Given the description of an element on the screen output the (x, y) to click on. 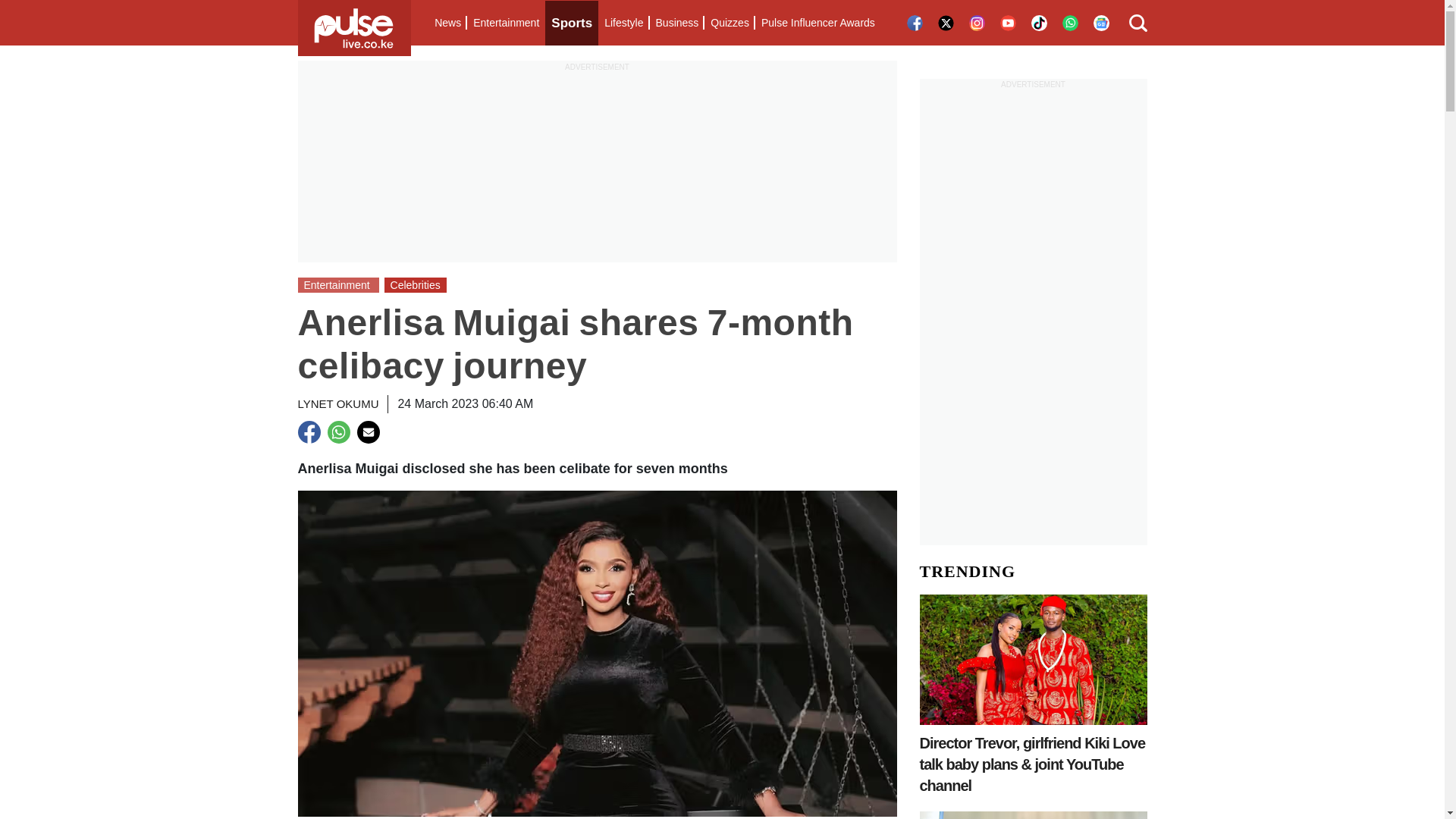
Lifestyle (623, 22)
Entertainment (505, 22)
Business (676, 22)
Sports (571, 22)
Quizzes (729, 22)
Pulse Influencer Awards (817, 22)
